Given the description of an element on the screen output the (x, y) to click on. 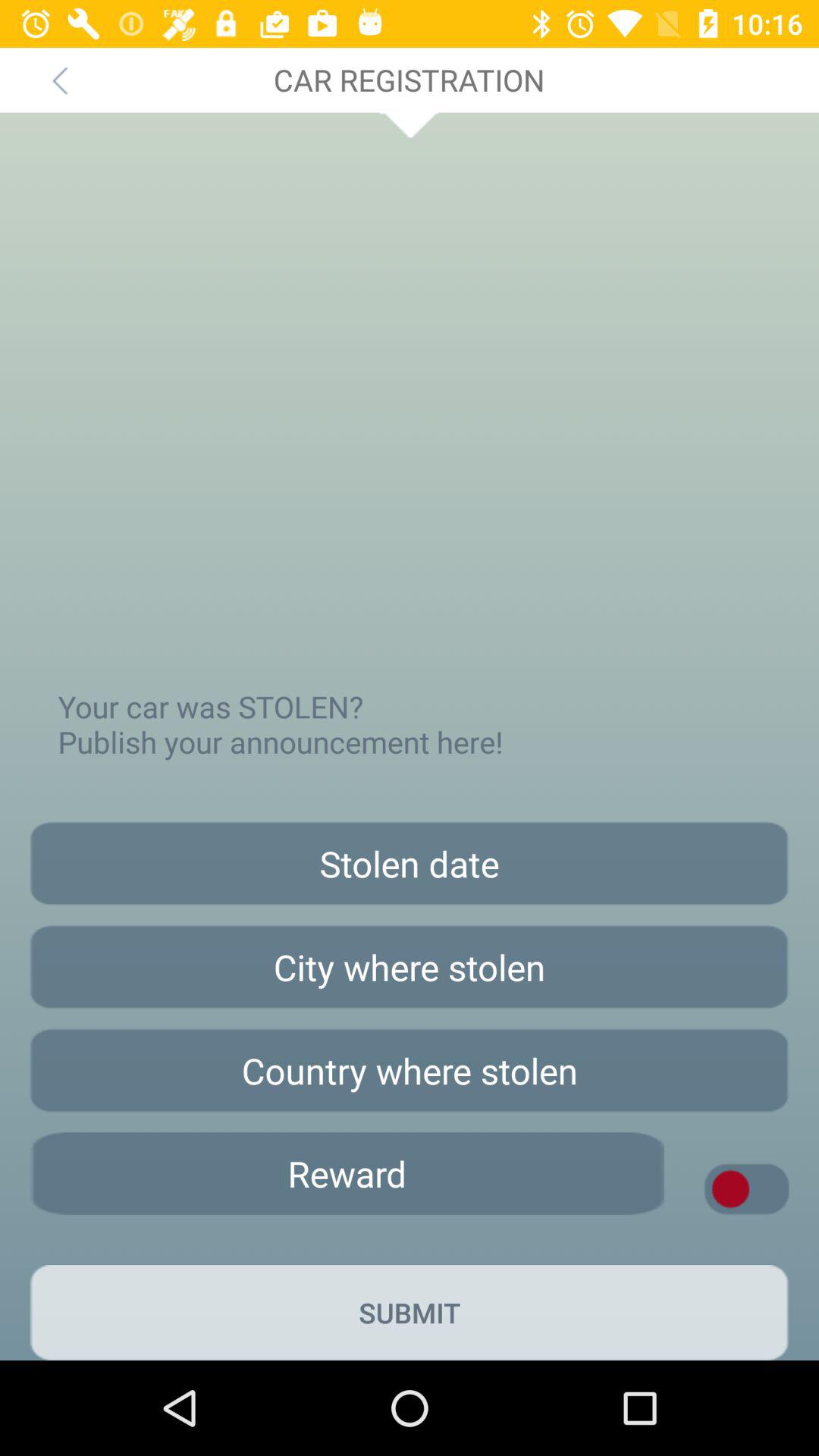
select icon above your car was app (59, 79)
